Given the description of an element on the screen output the (x, y) to click on. 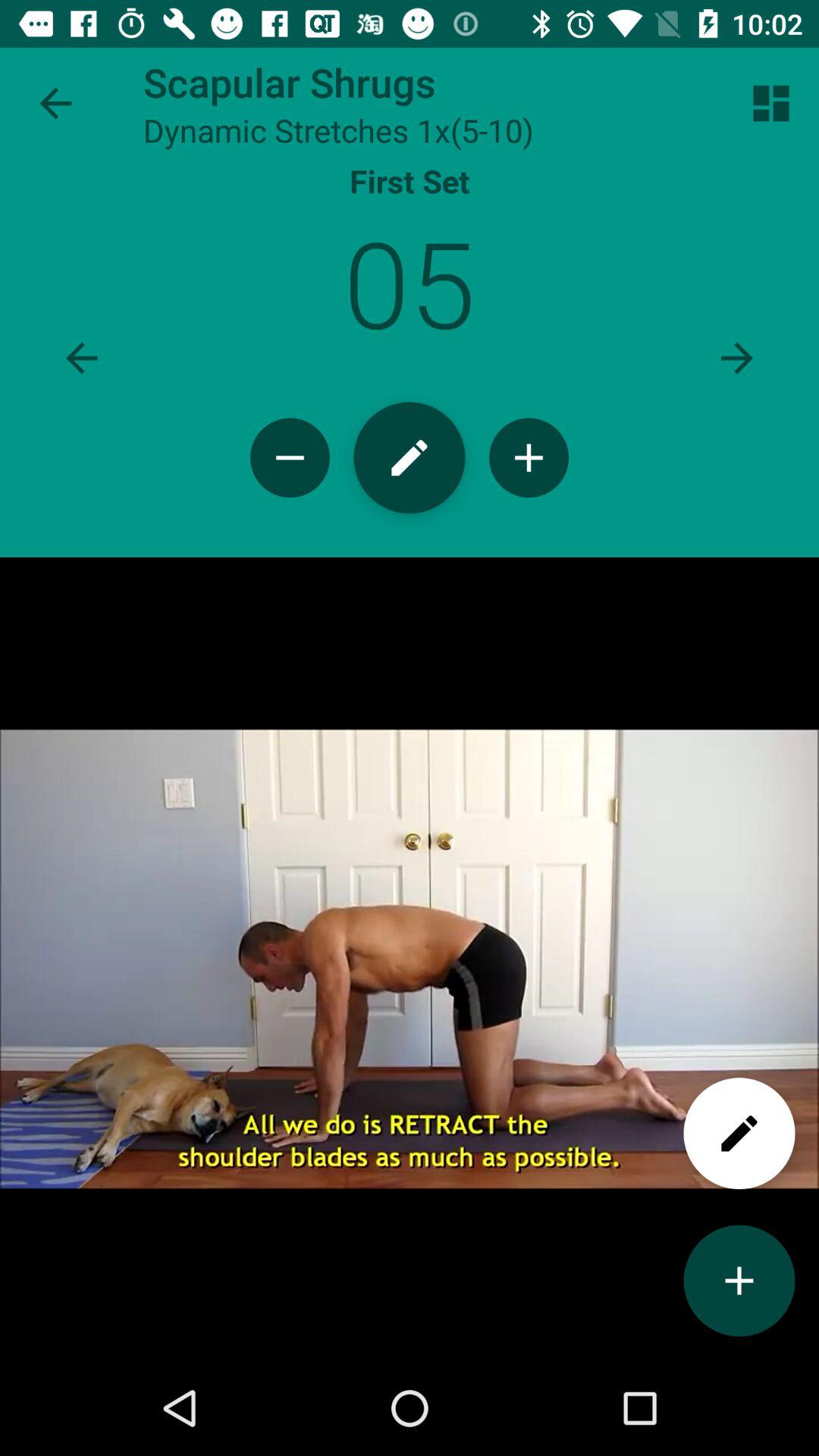
select type (409, 457)
